Given the description of an element on the screen output the (x, y) to click on. 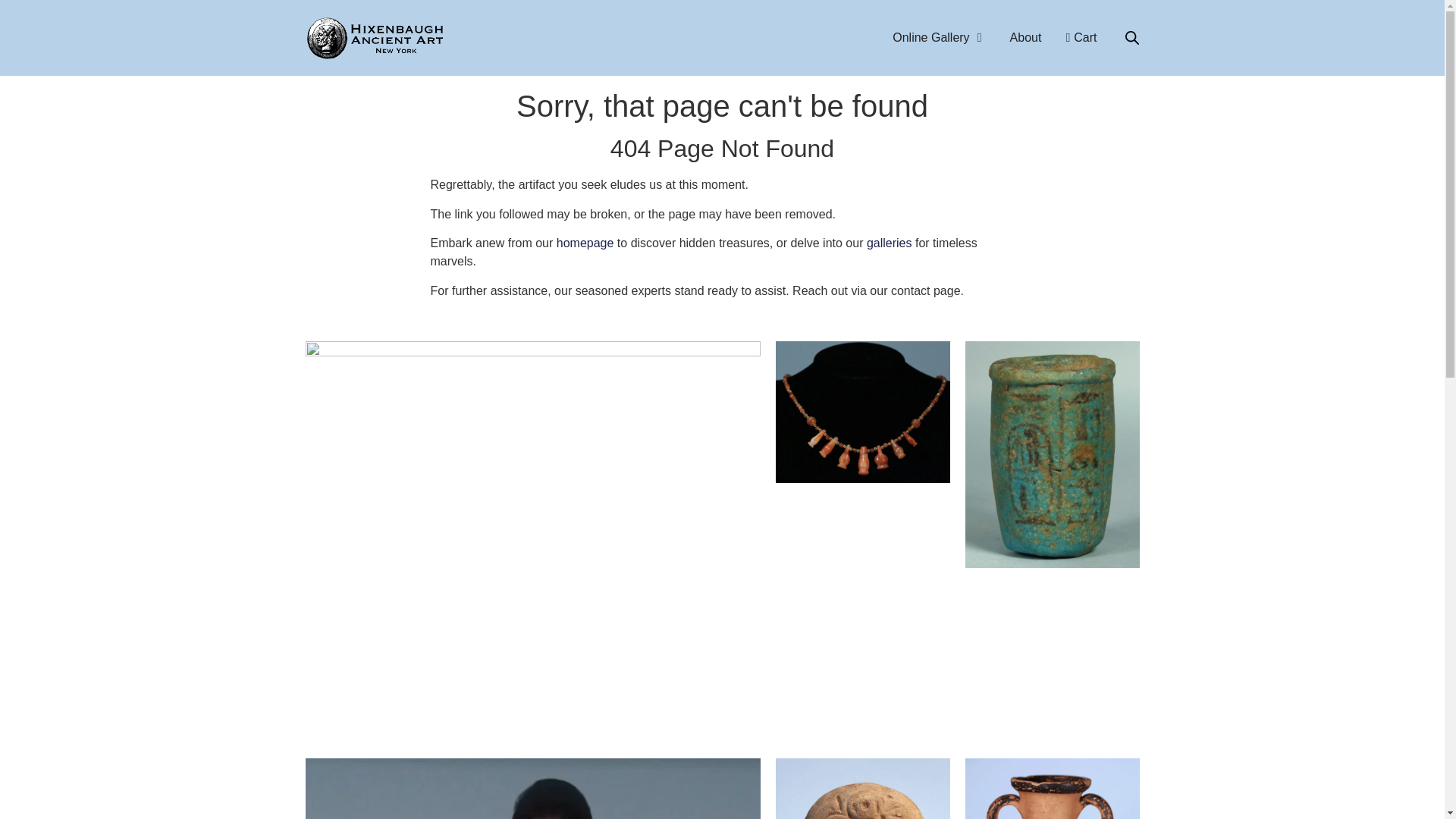
Cart (1080, 37)
galleries (889, 242)
Online Gallery (930, 37)
About (1026, 37)
homepage (585, 242)
